Given the description of an element on the screen output the (x, y) to click on. 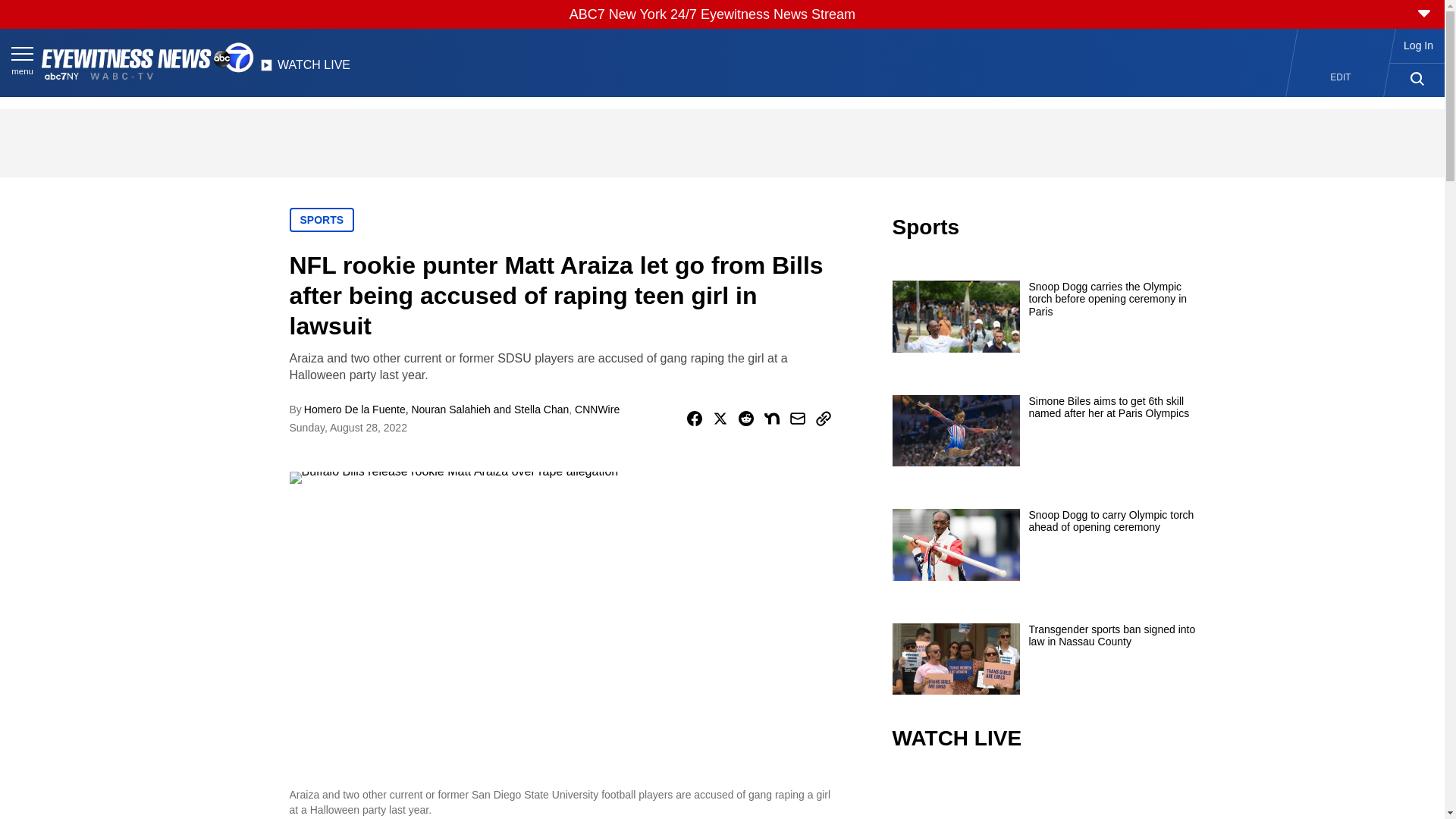
video.title (1043, 796)
EDIT (1340, 77)
WATCH LIVE (305, 69)
